Given the description of an element on the screen output the (x, y) to click on. 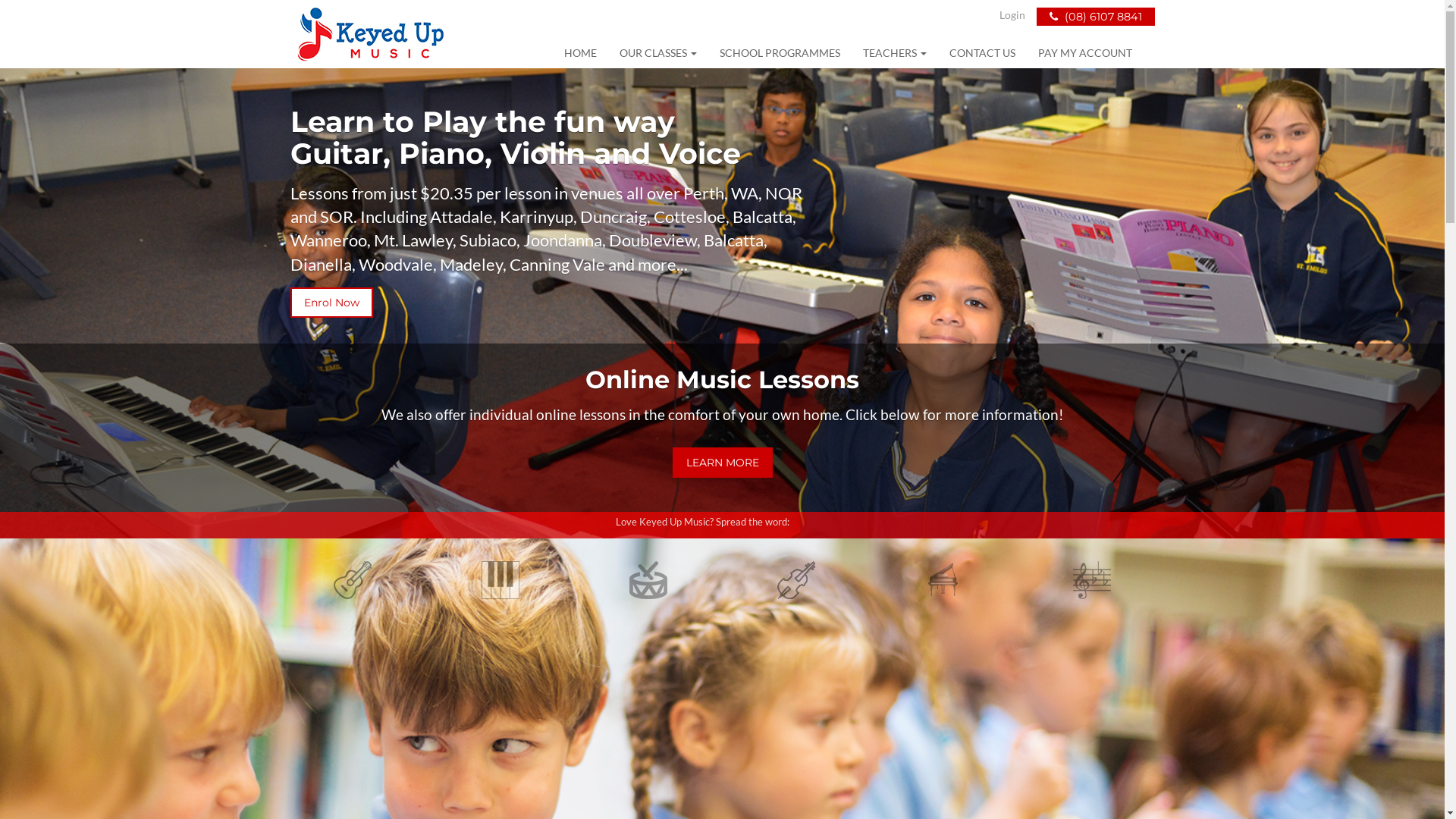
(08) 6107 8841 Element type: text (1094, 16)
PAY MY ACCOUNT Element type: text (1084, 52)
Login Element type: text (1011, 14)
TEACHERS Element type: text (893, 52)
HOME Element type: text (579, 52)
CONTACT US Element type: text (981, 52)
SCHOOL PROGRAMMES Element type: text (779, 52)
OUR CLASSES Element type: text (658, 52)
LEARN MORE Element type: text (721, 462)
Tweet Element type: text (812, 526)
Enrol Now Element type: text (330, 302)
